Given the description of an element on the screen output the (x, y) to click on. 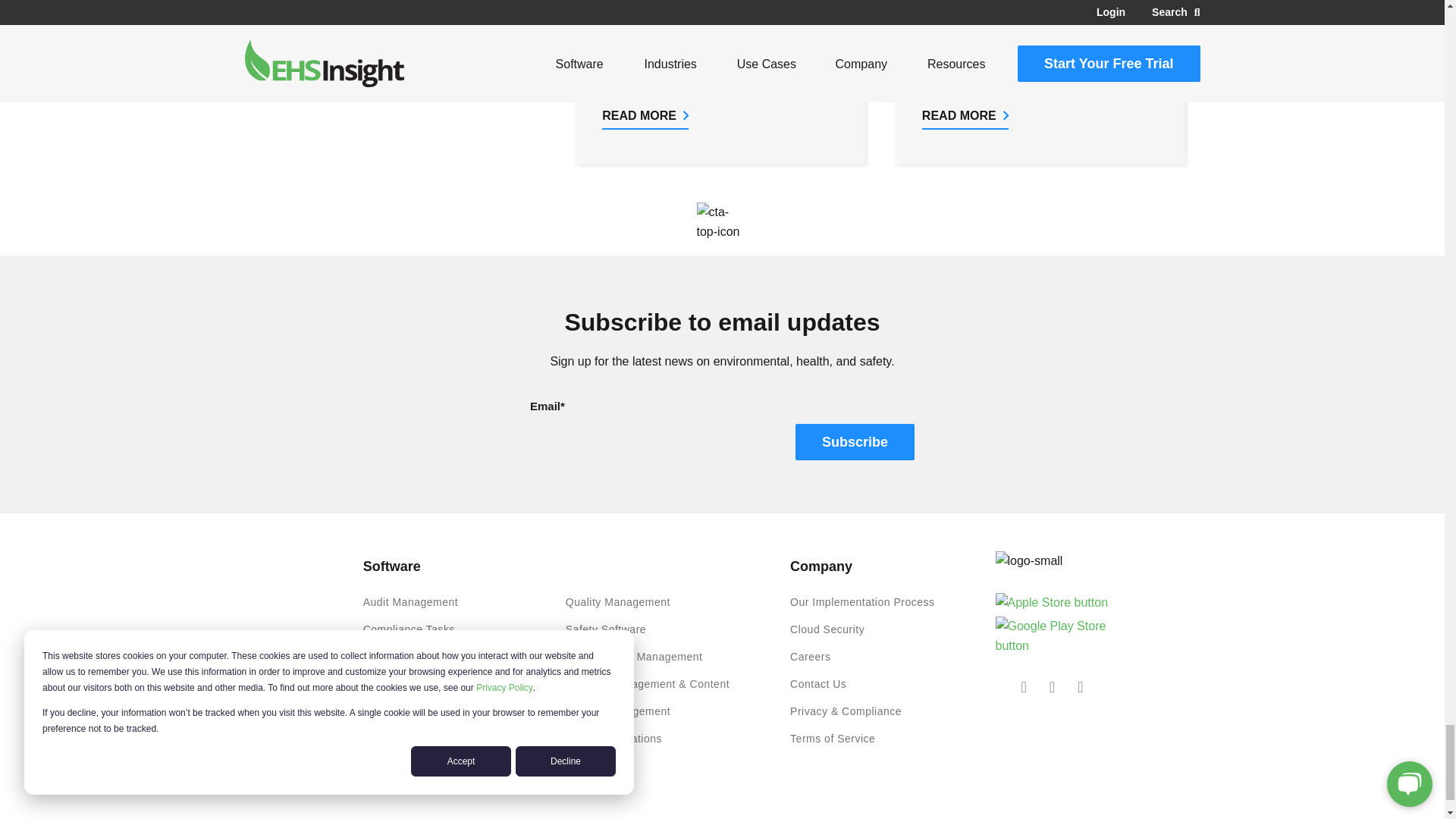
Subscribe (854, 442)
